Given the description of an element on the screen output the (x, y) to click on. 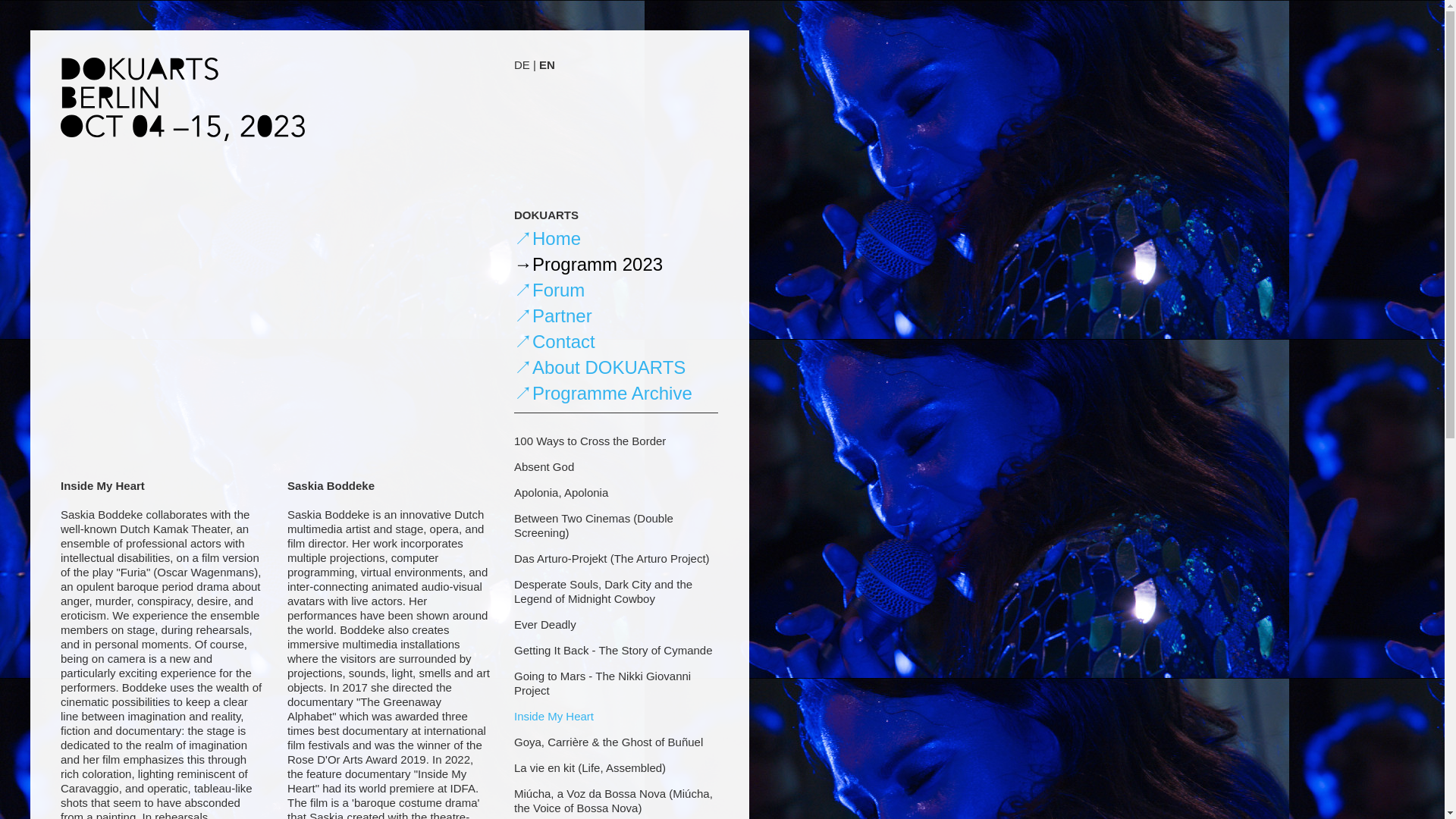
DE (521, 64)
Programm 2023 (587, 263)
Getting It Back - The Story of Cymande (613, 649)
Forum (549, 290)
Going to Mars - The Nikki Giovanni Project (601, 682)
Desperate Souls, Dark City and the Legend of Midnight Cowboy (603, 591)
Contact (554, 341)
Ever Deadly (544, 624)
Programme Archive (603, 393)
Apolonia, Apolonia (560, 492)
Absent God (543, 466)
About DOKUARTS (599, 367)
100 Ways to Cross the Border (589, 440)
Partner (552, 315)
EN (546, 64)
